Given the description of an element on the screen output the (x, y) to click on. 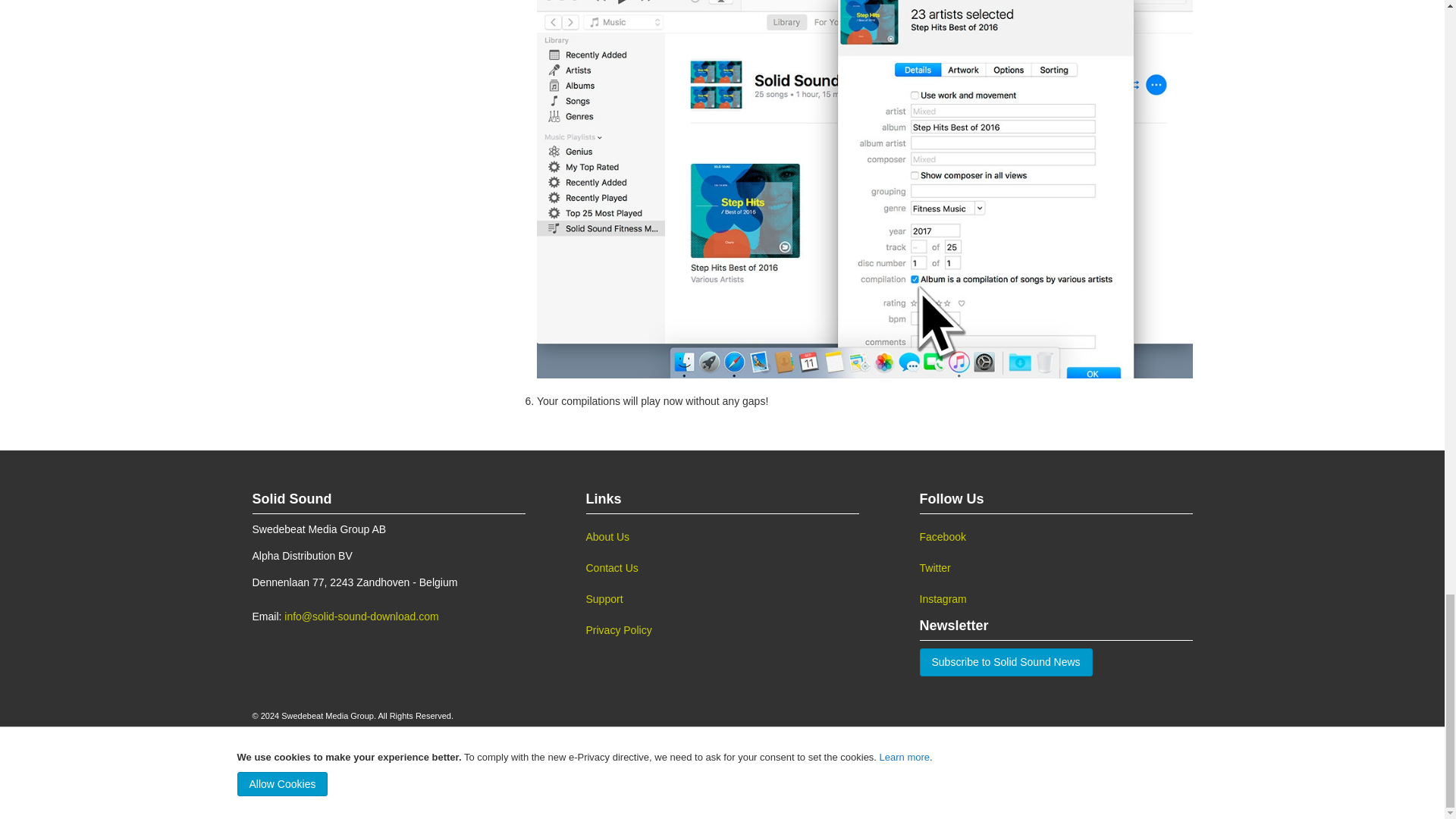
Instagram (1055, 599)
Facebook (1055, 536)
Twitter (1055, 567)
Subscribe to Solid Sound News (1005, 662)
